Given the description of an element on the screen output the (x, y) to click on. 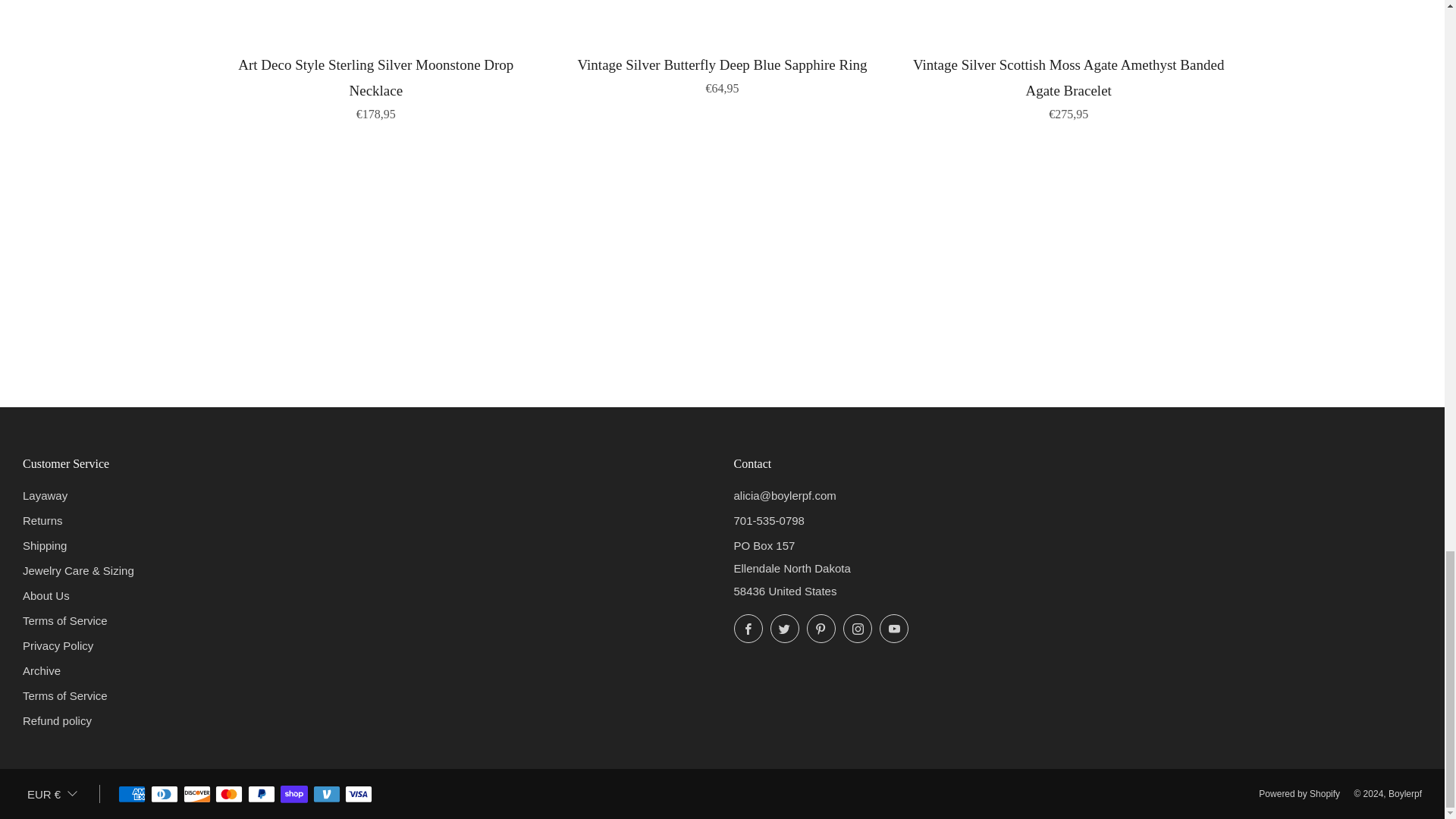
Vintage Silver Butterfly Deep Blue Sapphire Ring (721, 73)
Art Deco Style Sterling Silver Moonstone Drop Necklace (376, 86)
